Given the description of an element on the screen output the (x, y) to click on. 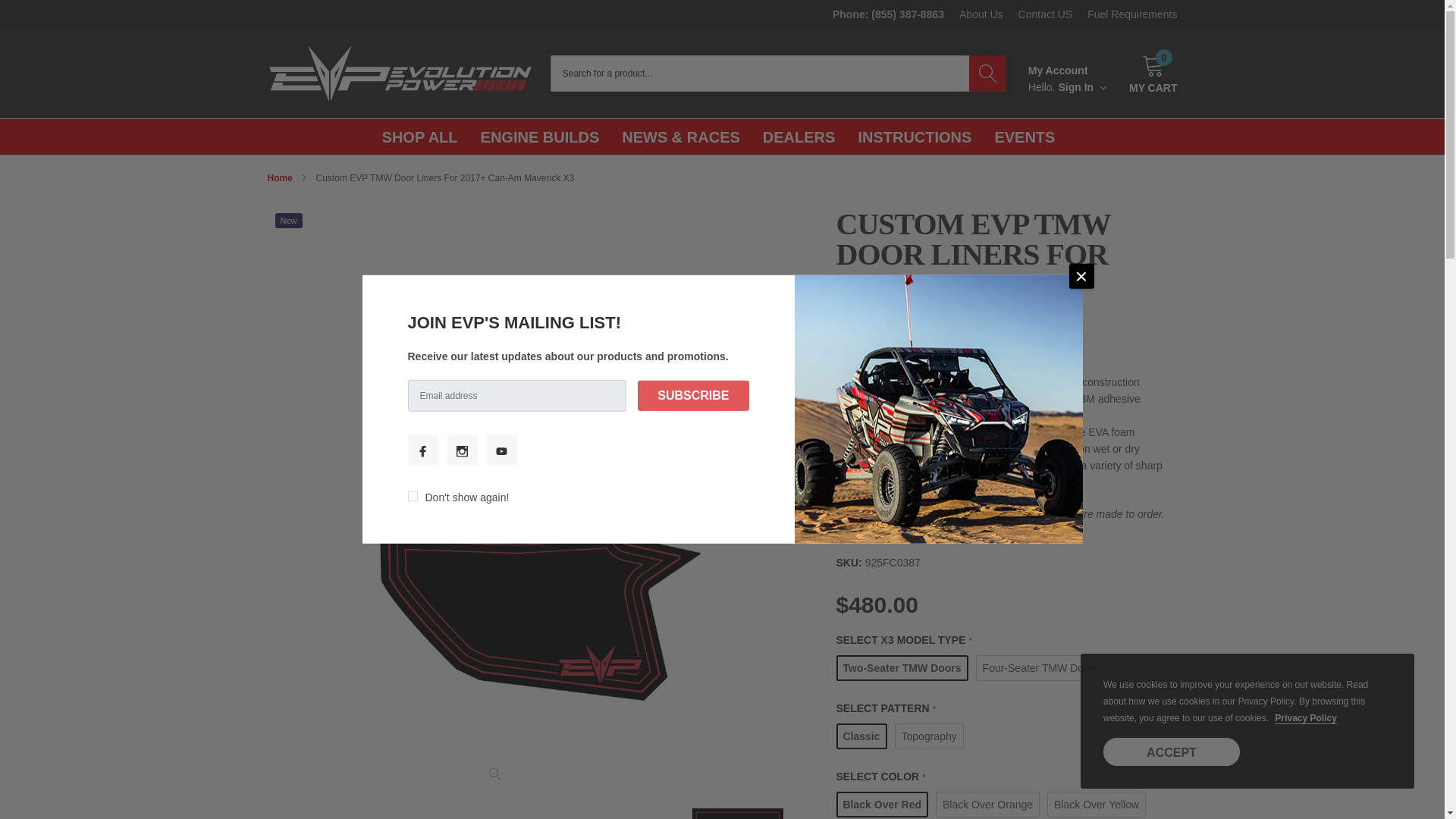
search (987, 73)
Classic (860, 736)
Fuel Requirements (1131, 14)
Two-Seater TMW Doors (1153, 73)
Contact US (901, 667)
Topography (1045, 14)
Black Over Orange (929, 736)
Four-Seater TMW Doors (987, 804)
SHOP ALL (1040, 667)
Sign In (419, 136)
About Us (1082, 86)
Black Over Yellow (981, 14)
Subscribe (1095, 804)
Black Over Red (692, 395)
